Given the description of an element on the screen output the (x, y) to click on. 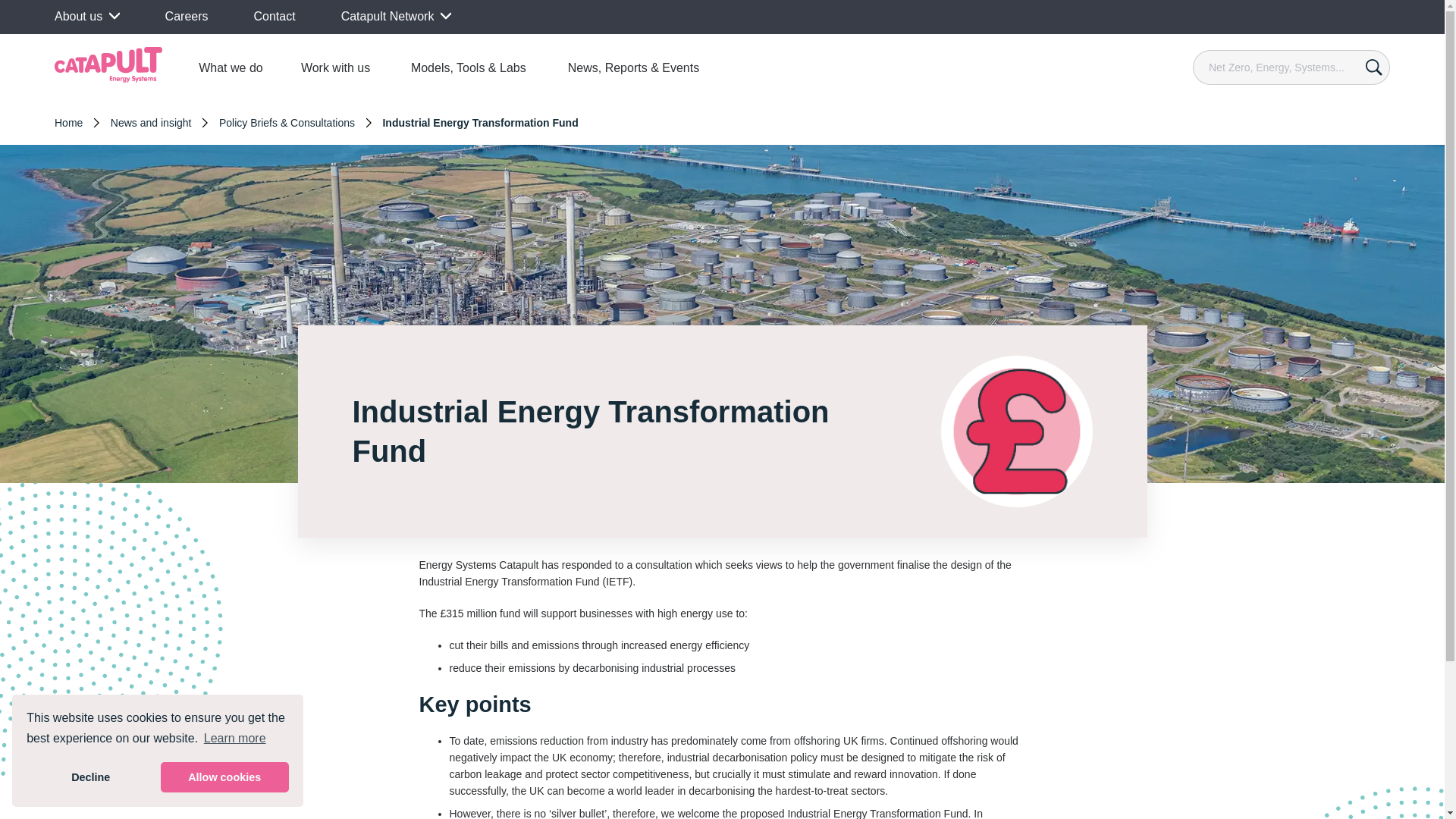
search (1373, 67)
What we do (230, 67)
Chevron (446, 15)
Contact (274, 15)
Allow cookies (224, 777)
Chevron (114, 15)
About us Chevron (87, 16)
Learn more (234, 738)
Catapult Network Chevron (395, 16)
Work with us (335, 67)
